Given the description of an element on the screen output the (x, y) to click on. 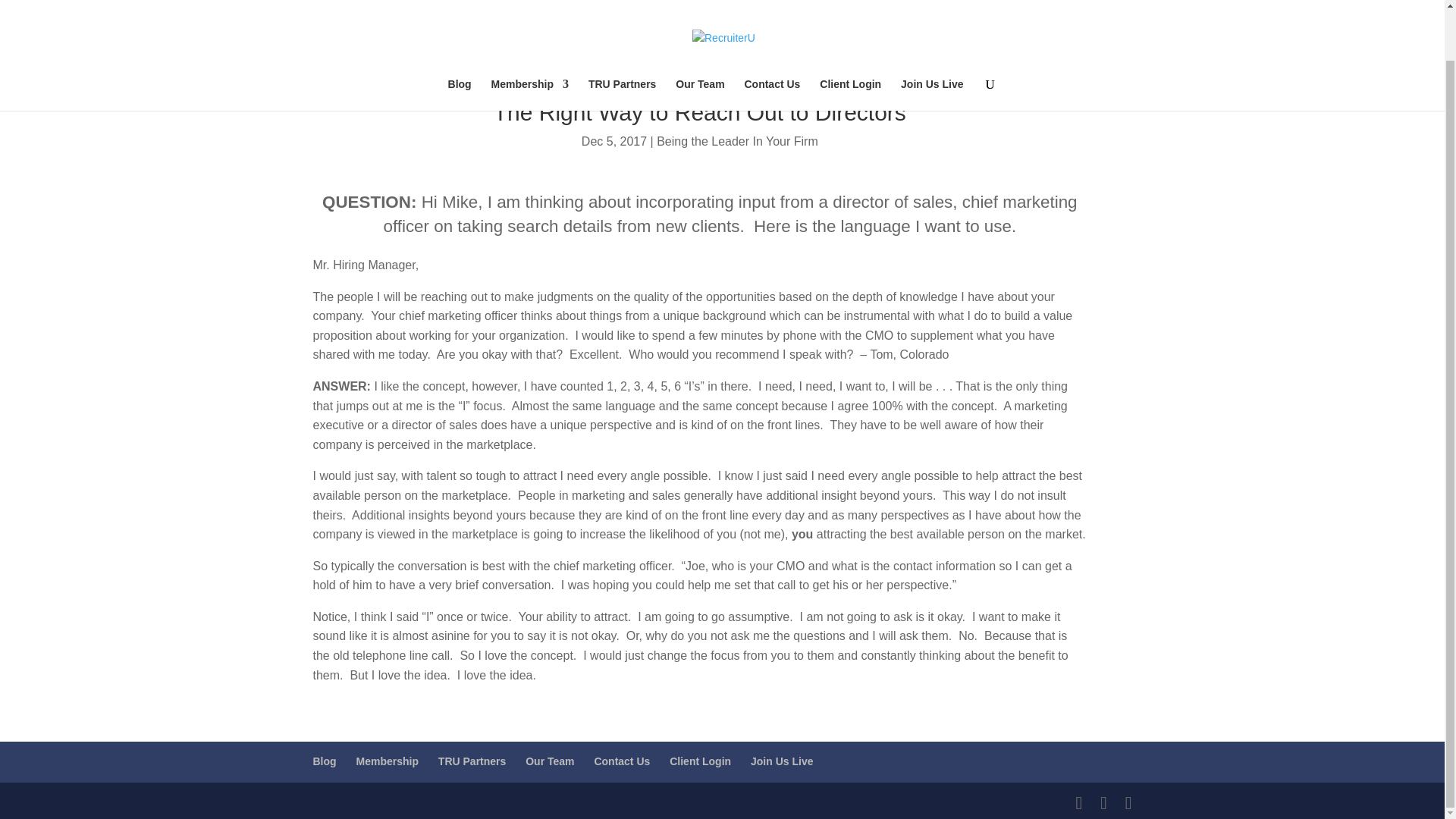
Membership (530, 40)
Contact Us (771, 40)
Client Login (849, 40)
Being the Leader In Your Firm (737, 141)
TRU Partners (622, 40)
Join Us Live (931, 40)
Our Team (699, 40)
